Given the description of an element on the screen output the (x, y) to click on. 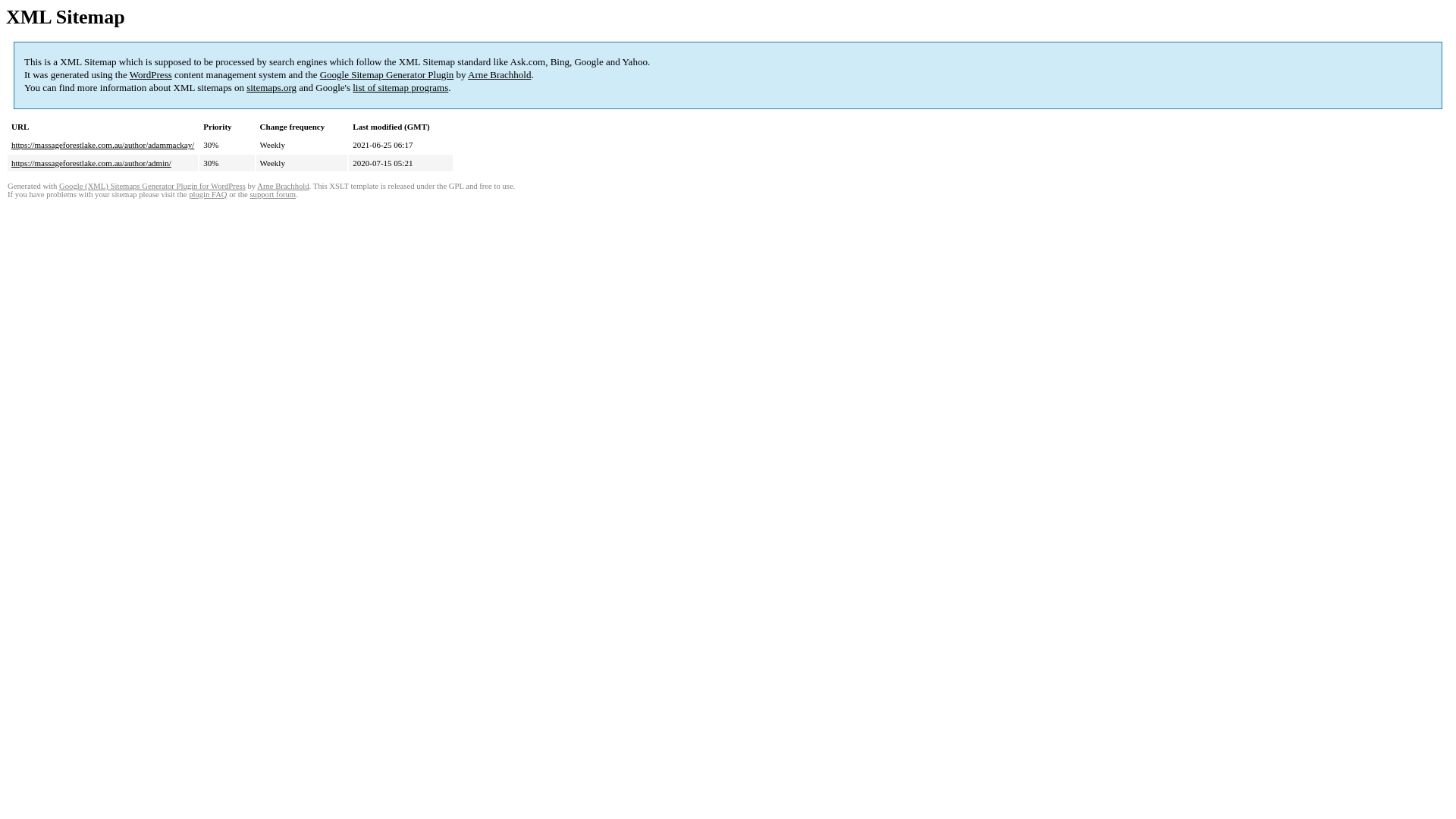
support forum Element type: text (272, 194)
https://massageforestlake.com.au/author/adammackay/ Element type: text (102, 144)
Arne Brachhold Element type: text (282, 186)
list of sitemap programs Element type: text (400, 87)
https://massageforestlake.com.au/author/admin/ Element type: text (91, 162)
Google (XML) Sitemaps Generator Plugin for WordPress Element type: text (152, 186)
plugin FAQ Element type: text (207, 194)
Arne Brachhold Element type: text (498, 74)
WordPress Element type: text (150, 74)
Google Sitemap Generator Plugin Element type: text (387, 74)
sitemaps.org Element type: text (271, 87)
